Given the description of an element on the screen output the (x, y) to click on. 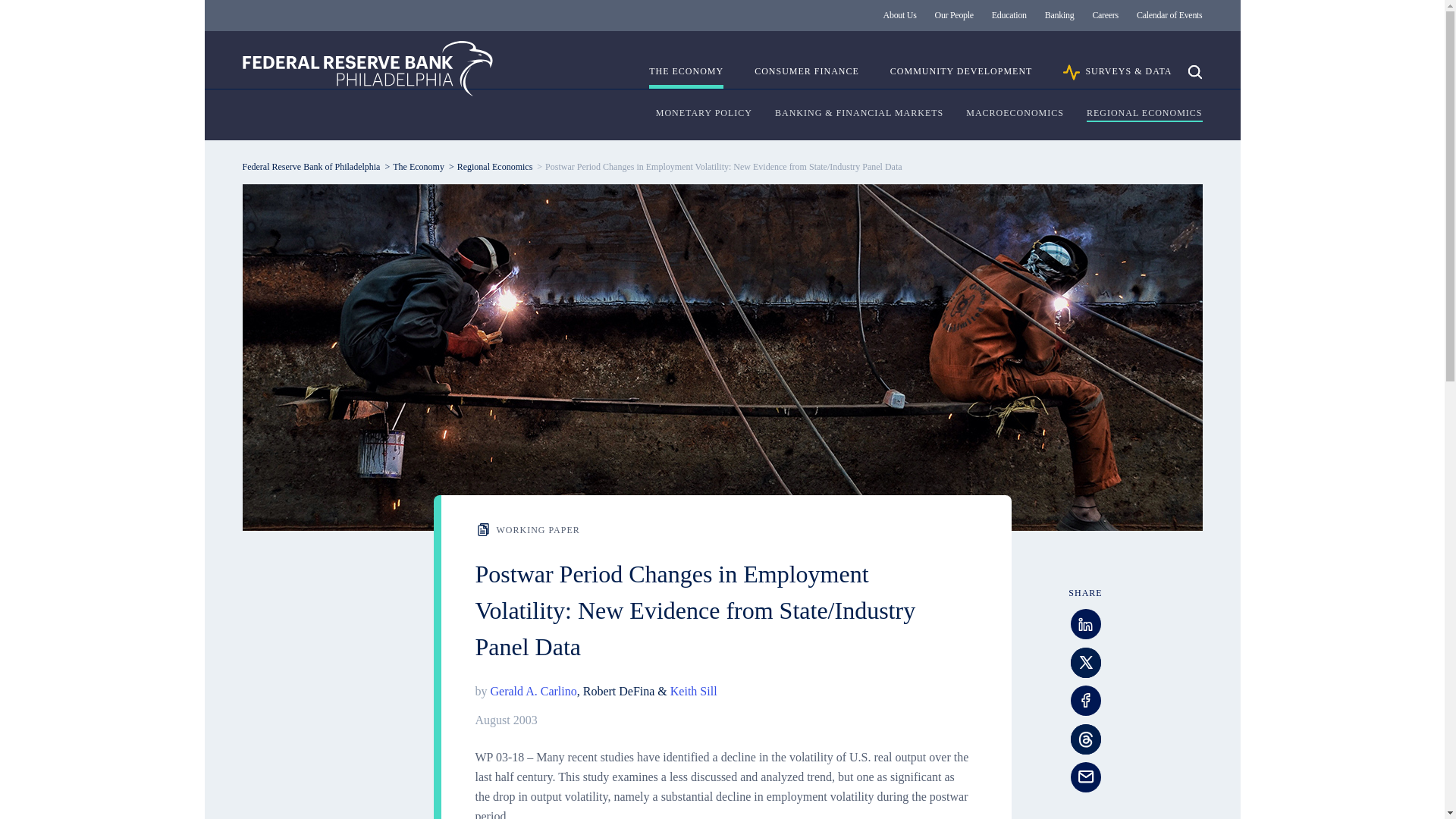
MACROECONOMICS (1015, 114)
Gerald A. Carlino (532, 690)
Federal Reserve Bank of Philadelphia (368, 67)
Calendar of Events (1169, 15)
Banking (1059, 15)
Education (1008, 15)
Our People (954, 15)
REGIONAL ECONOMICS (1144, 114)
The Economy (418, 166)
Federal Reserve Bank of Philadelphia (311, 166)
